Given the description of an element on the screen output the (x, y) to click on. 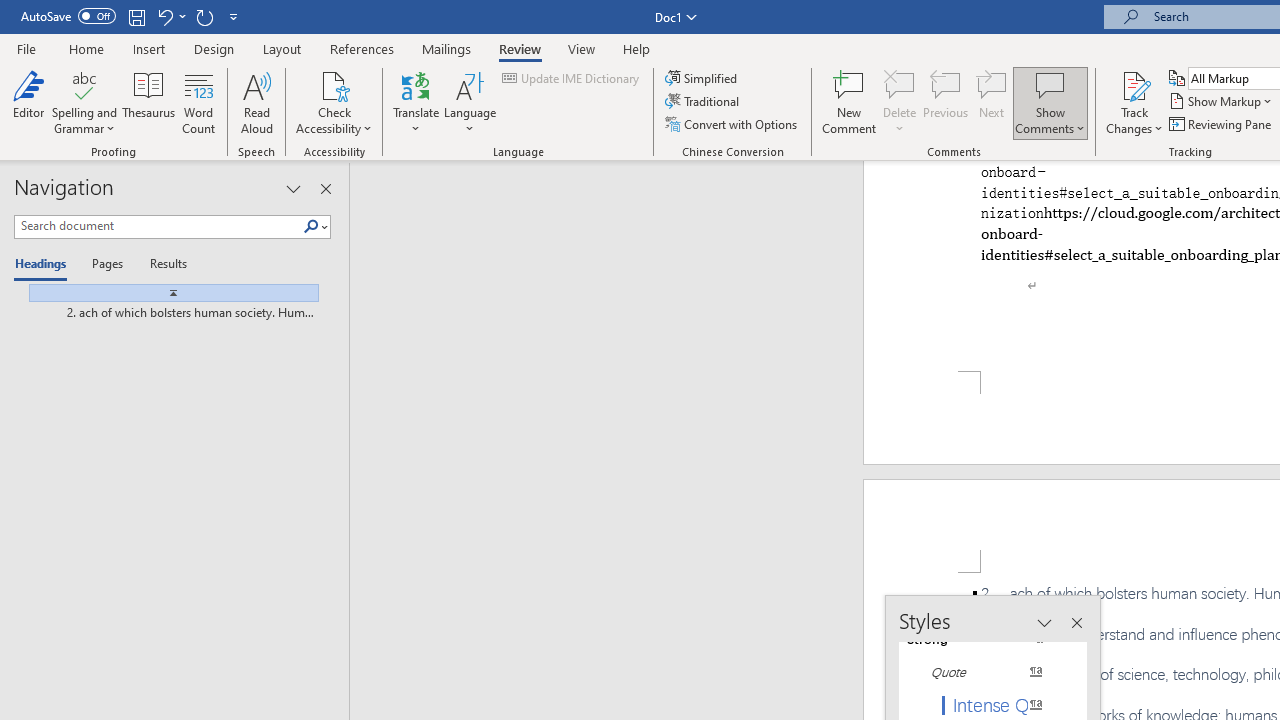
Thesaurus... (148, 102)
Track Changes (1134, 84)
References (362, 48)
Task Pane Options (293, 188)
Delete (900, 102)
Insert (149, 48)
Check Accessibility (334, 84)
Pages (105, 264)
More Options (1134, 121)
Check Accessibility (334, 102)
Language (470, 102)
File Tab (26, 48)
View (582, 48)
Simplified (702, 78)
